Given the description of an element on the screen output the (x, y) to click on. 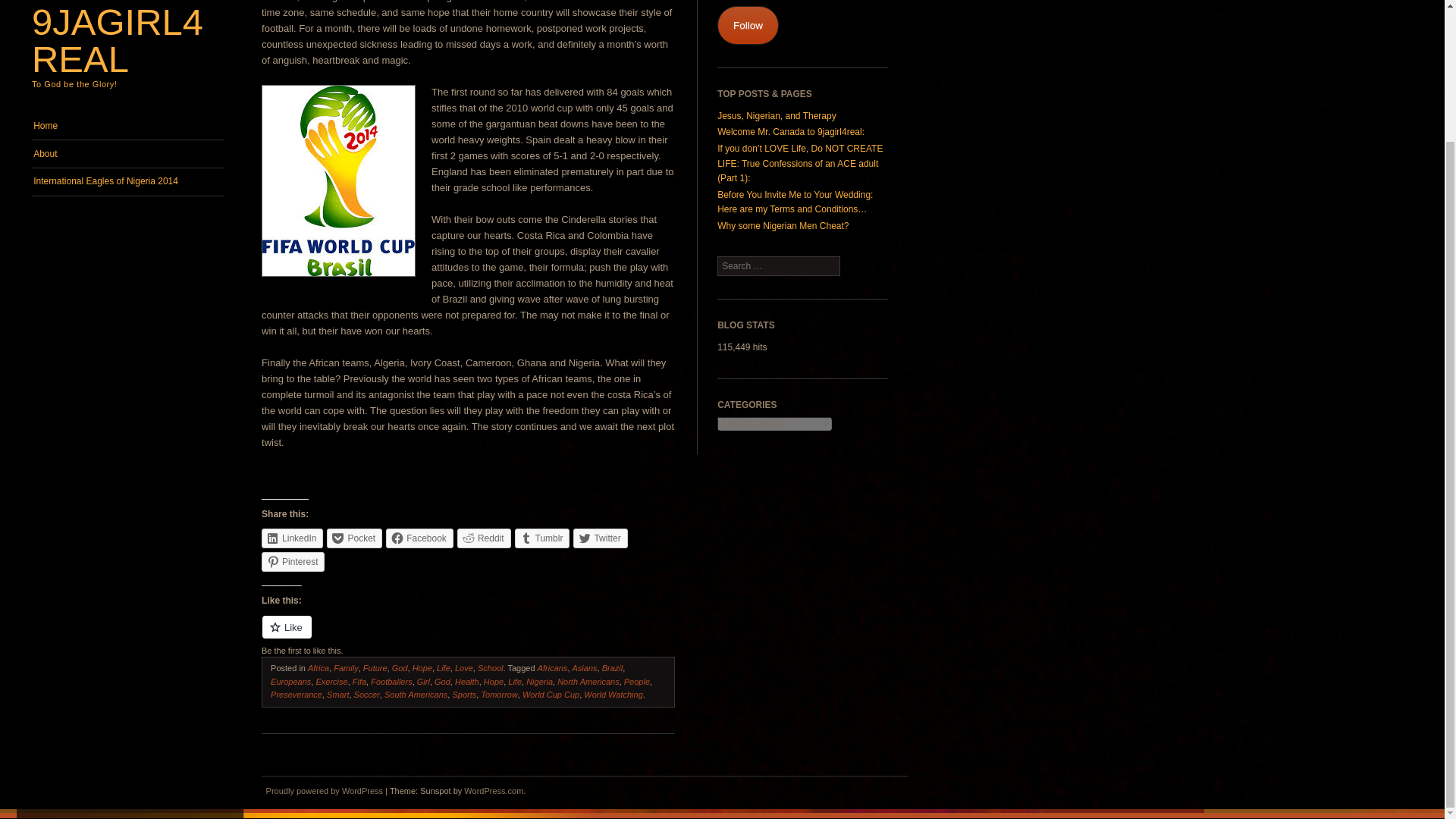
Life (514, 681)
Click to share on Facebook (418, 537)
9jagirl4real (117, 40)
Health (466, 681)
Home (128, 125)
Footballers (391, 681)
Skip to content (61, 119)
Girl (422, 681)
Tumblr (542, 537)
Skip to content (61, 119)
Nigeria (539, 681)
International Eagles of Nigeria 2014 (128, 181)
Pocket (353, 537)
Click to share on LinkedIn (292, 537)
Future (374, 667)
